Given the description of an element on the screen output the (x, y) to click on. 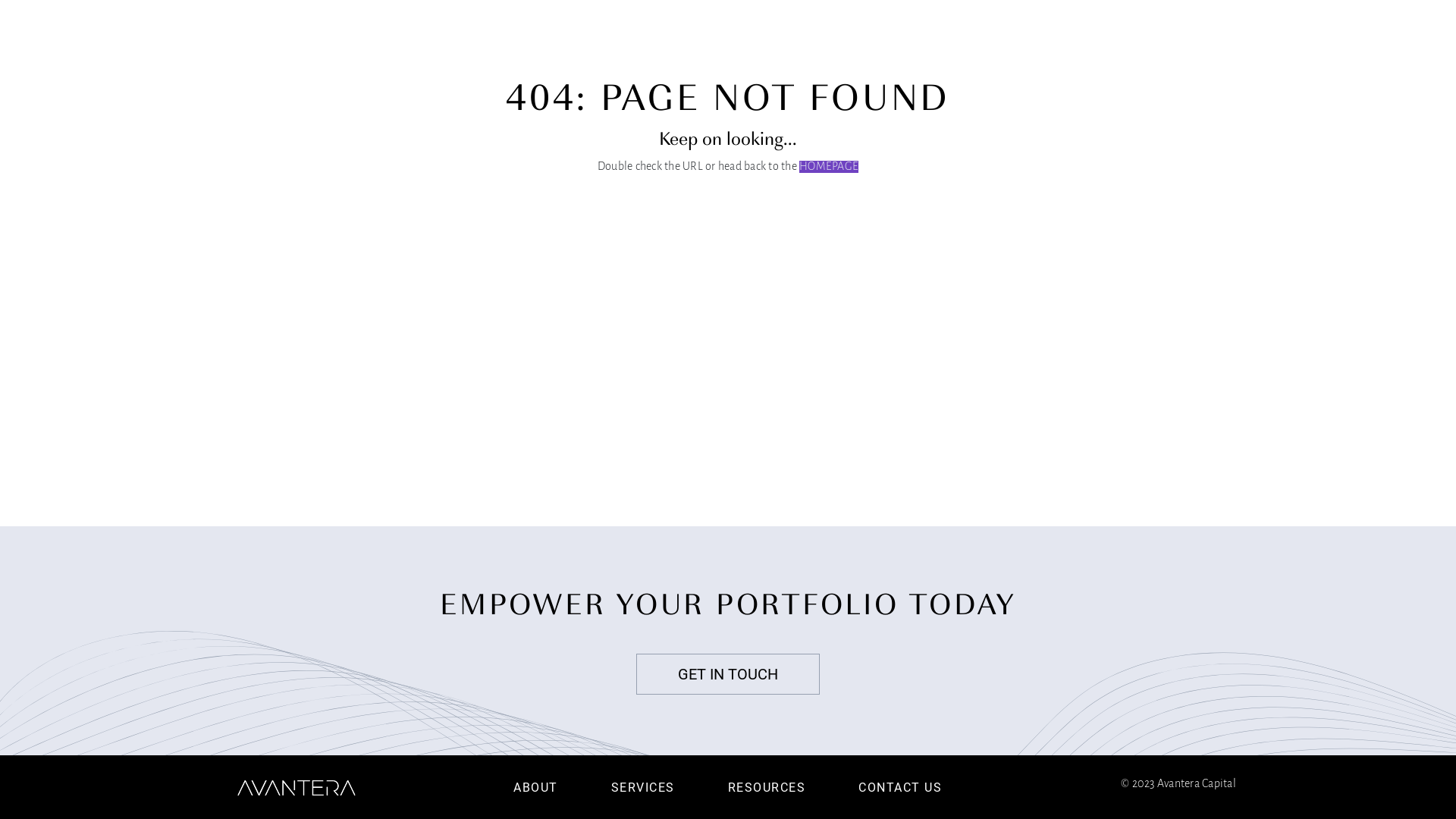
ABOUT Element type: text (836, 53)
CONTACT US Element type: text (899, 785)
CONTACT US Element type: text (1151, 53)
RESOURCES Element type: text (766, 785)
Avantera Element type: hover (296, 53)
SERVICES Element type: text (916, 53)
SERVICES Element type: text (642, 785)
RESOURCES Element type: text (1014, 53)
GET IN TOUCH Element type: text (727, 673)
ABOUT Element type: text (535, 785)
HOMEPAGE Element type: text (828, 166)
